Given the description of an element on the screen output the (x, y) to click on. 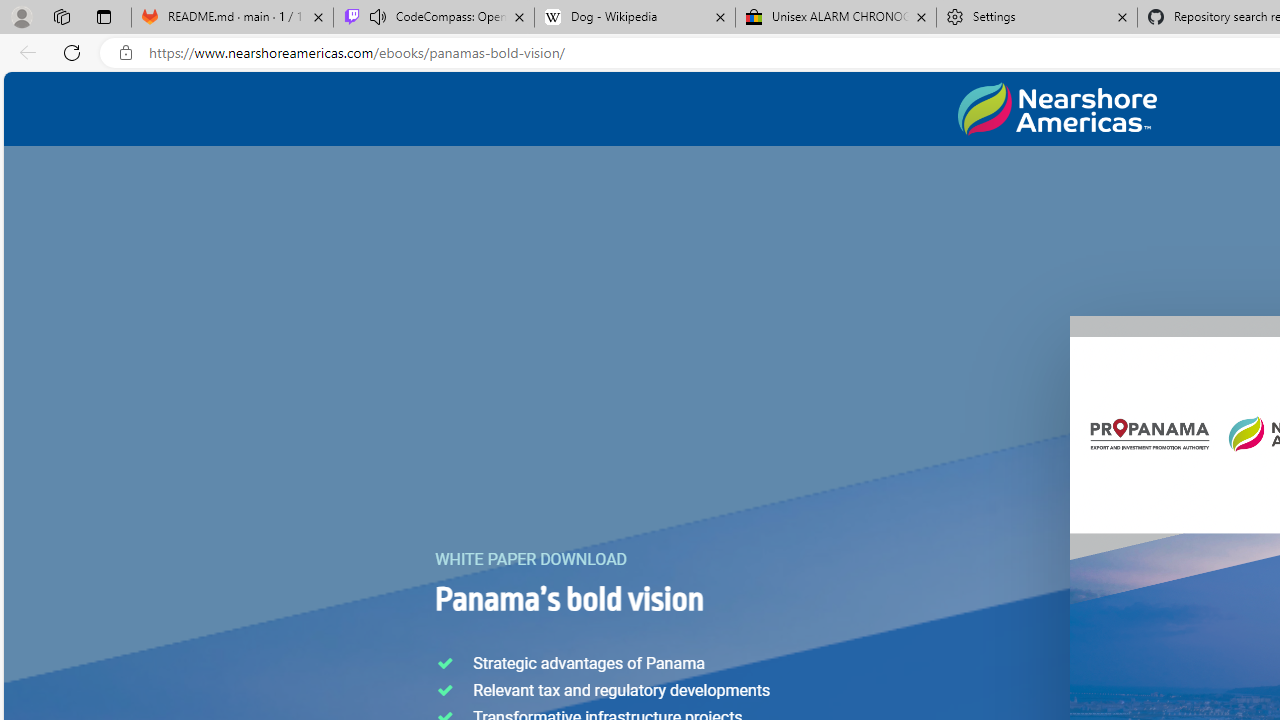
View site information (125, 53)
Back (24, 52)
Refresh (72, 52)
Mute tab (377, 16)
Close tab (1122, 16)
Settings (1036, 17)
Class: center (1057, 109)
Personal Profile (21, 16)
Dog - Wikipedia (634, 17)
Tab actions menu (104, 16)
